Given the description of an element on the screen output the (x, y) to click on. 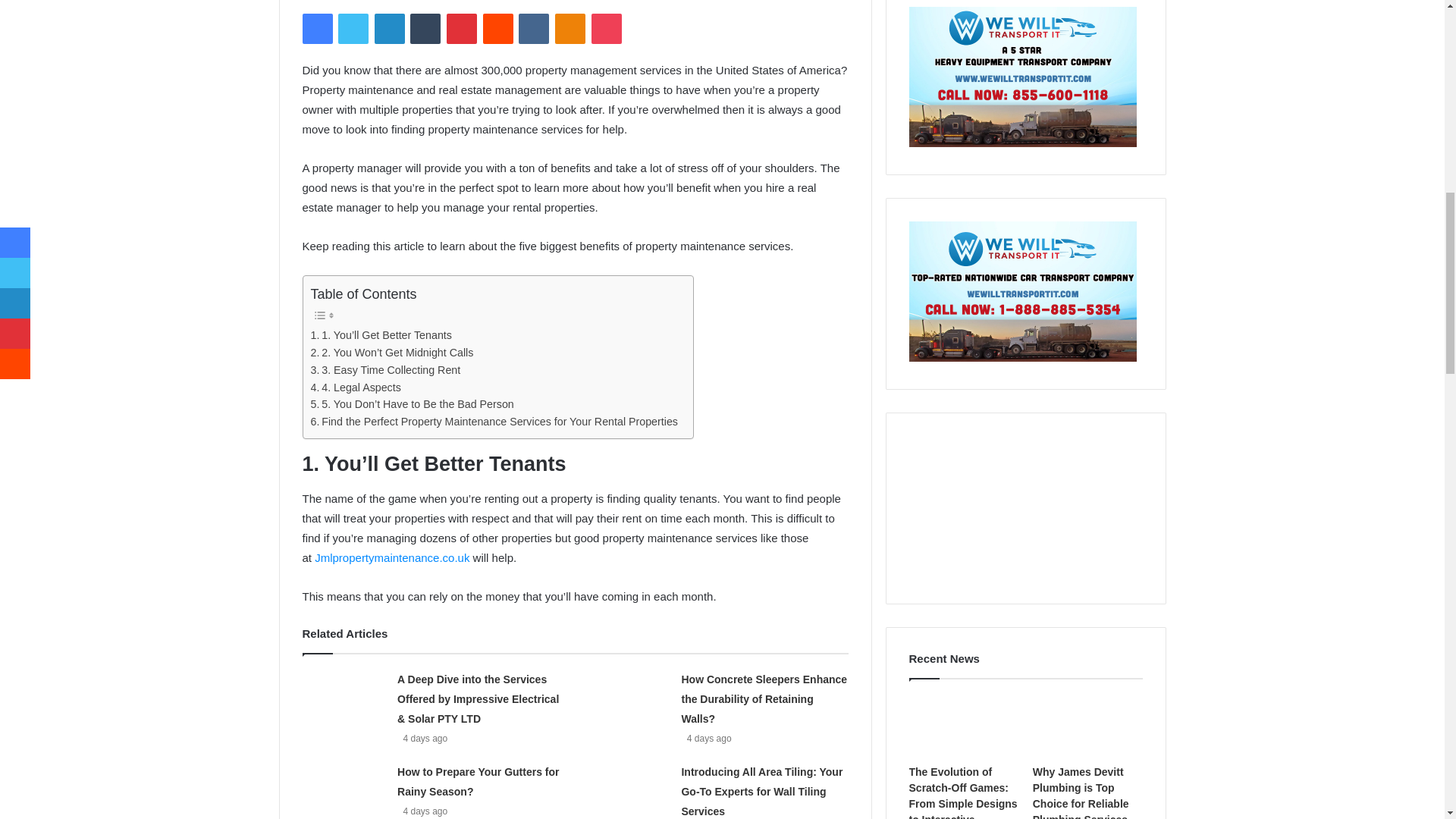
Twitter (352, 28)
Facebook (316, 28)
Twitter (352, 28)
Pocket (606, 28)
3. Easy Time Collecting Rent (386, 370)
Tumblr (425, 28)
VKontakte (533, 28)
Facebook (316, 28)
Pinterest (461, 28)
Odnoklassniki (569, 28)
LinkedIn (389, 28)
Reddit (498, 28)
